Given the description of an element on the screen output the (x, y) to click on. 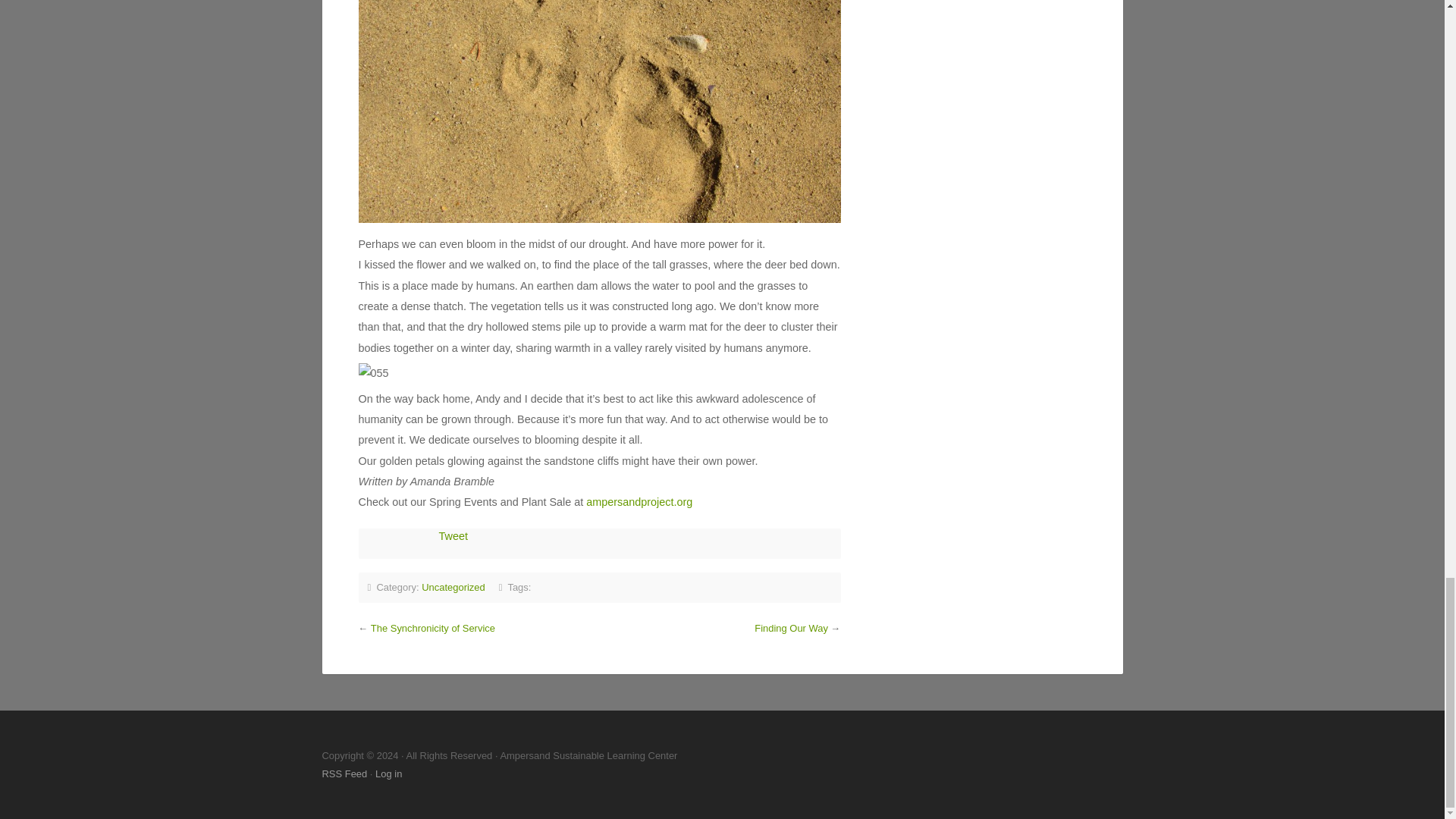
Finding Our Way (791, 627)
The Synchronicity of Service (433, 627)
ampersandproject.org (639, 501)
Tweet (452, 535)
Uncategorized (453, 586)
